Given the description of an element on the screen output the (x, y) to click on. 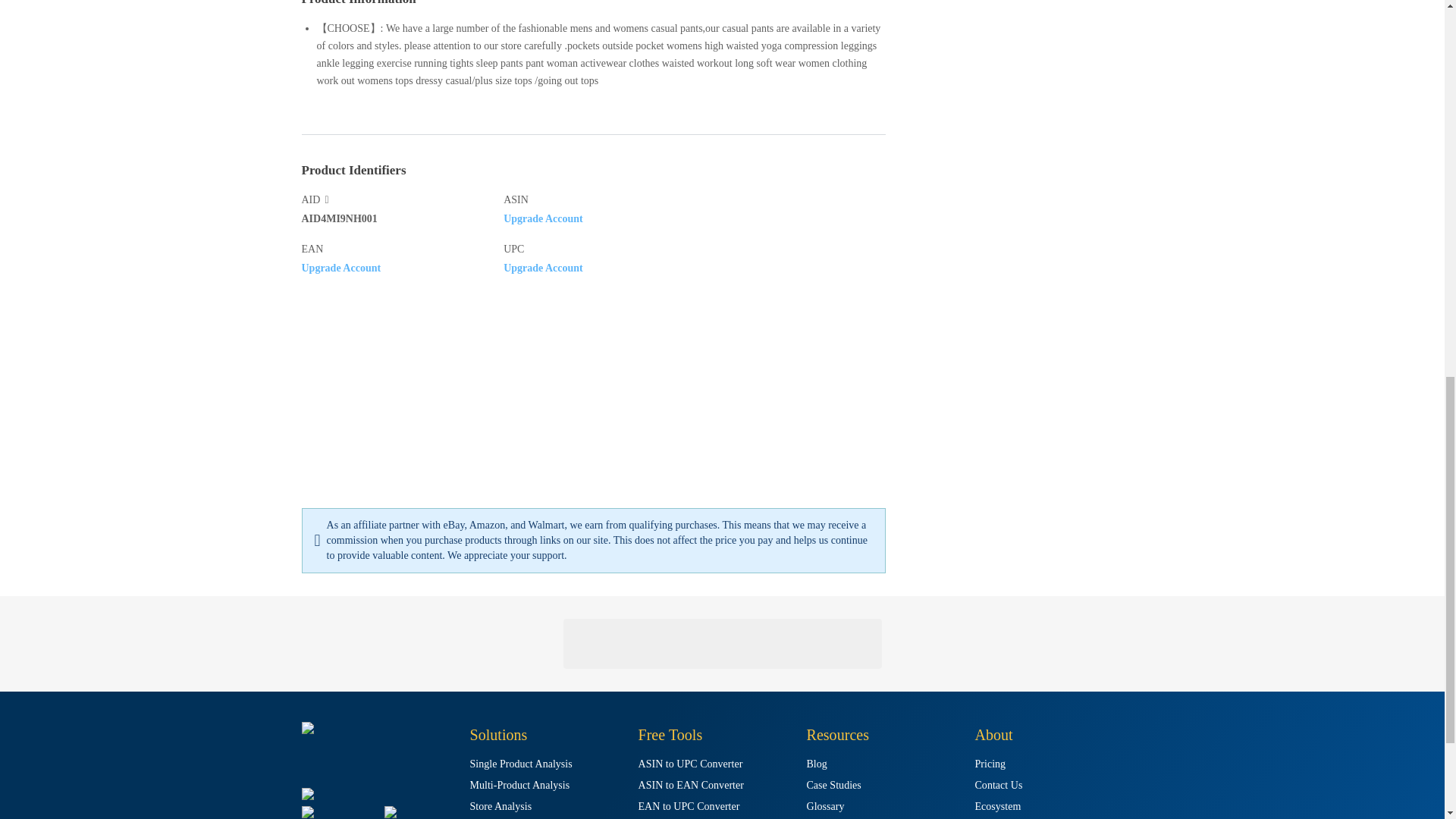
Store Analysis (501, 806)
Multi-Product Analysis (520, 785)
ASIN to UPC Converter (690, 763)
Upgrade Account (543, 267)
Upgrade Account (341, 267)
Single Product Analysis (521, 763)
Upgrade Account (543, 217)
